Given the description of an element on the screen output the (x, y) to click on. 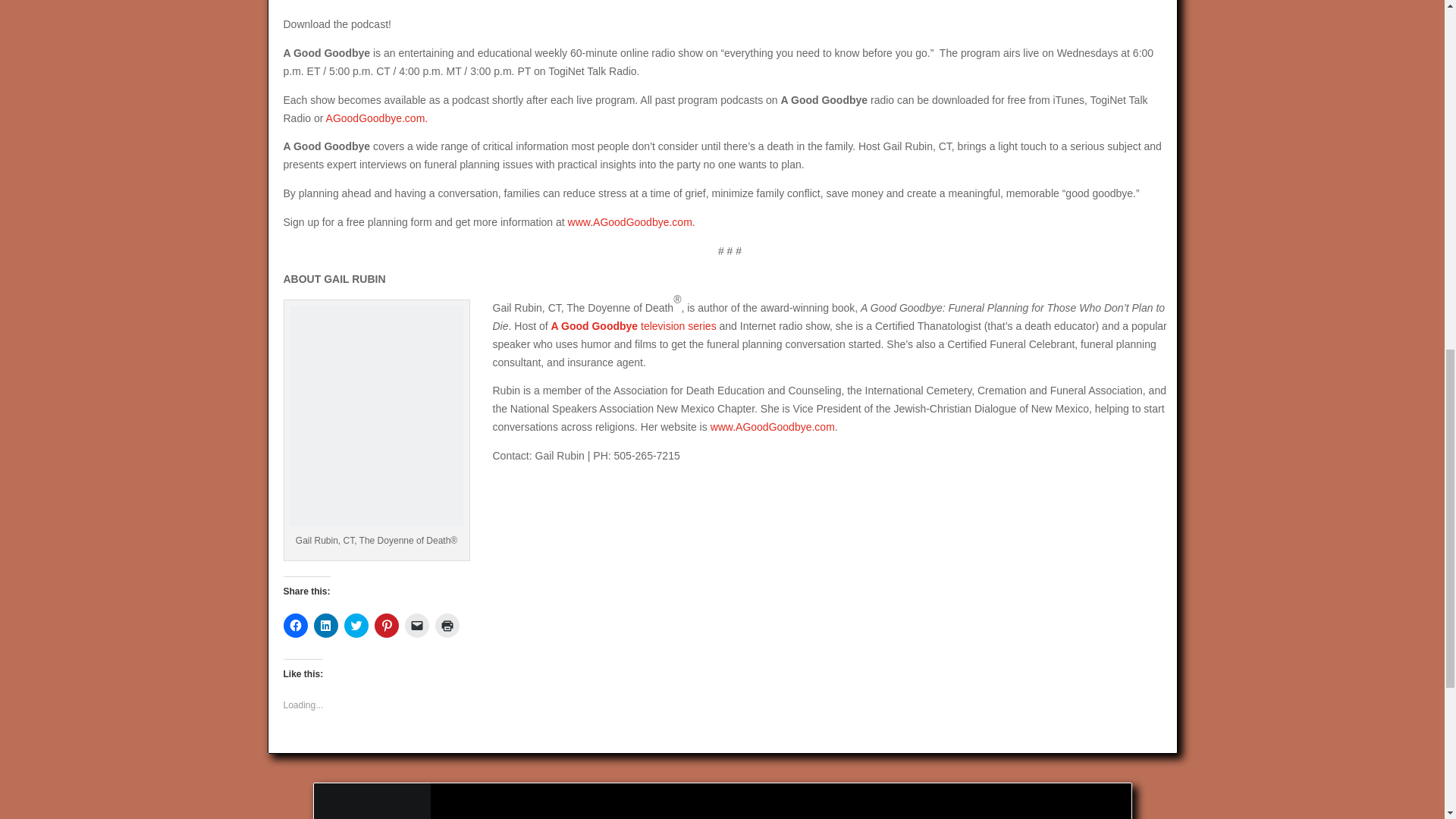
Click to share on Pinterest (386, 625)
Click to print (447, 625)
Click to share on LinkedIn (325, 625)
Click to share on Twitter (355, 625)
Click to email a link to a friend (416, 625)
Click to share on Facebook (295, 625)
